Given the description of an element on the screen output the (x, y) to click on. 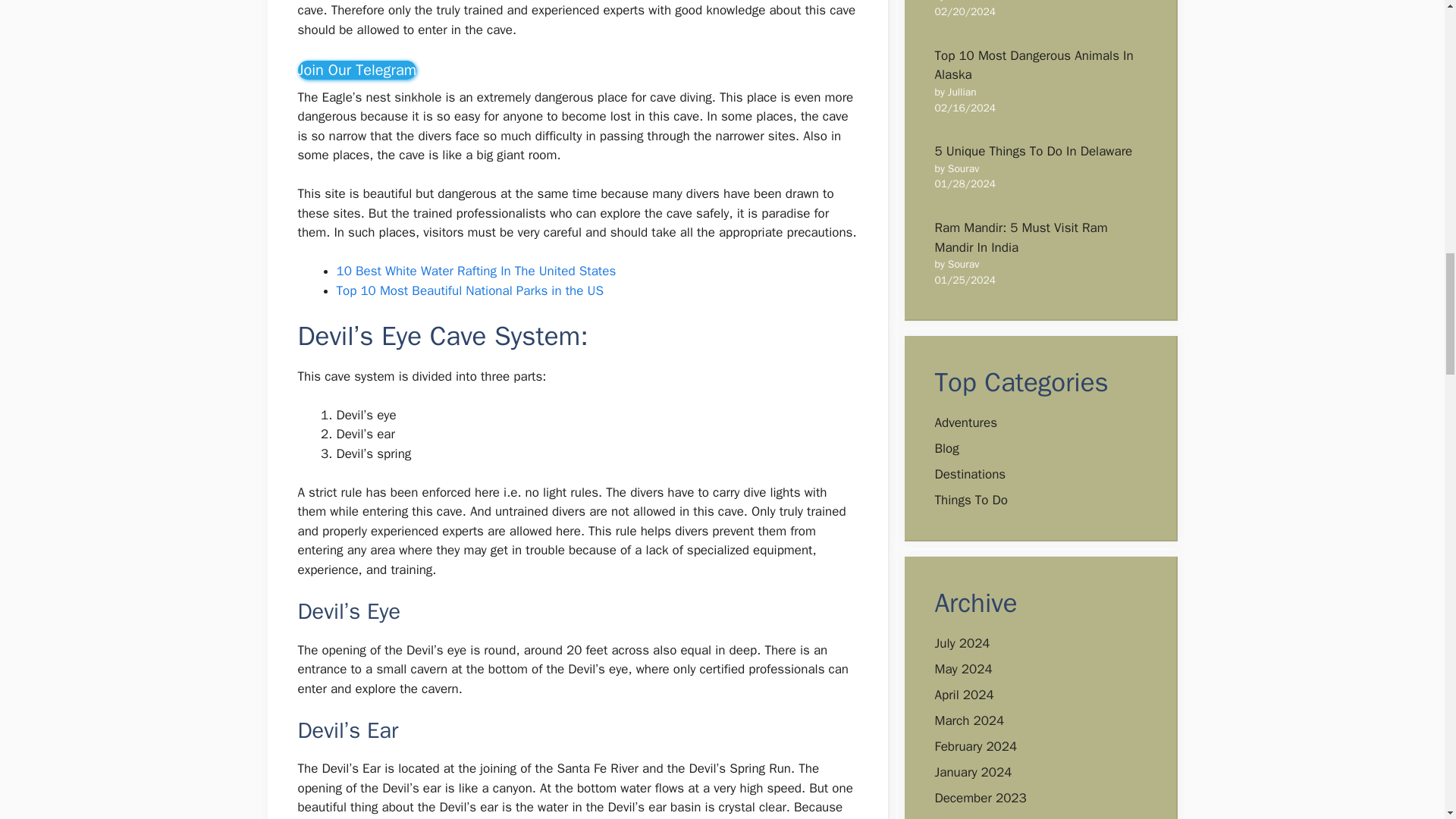
Join Our Telegram (356, 69)
Travel For Go (356, 69)
10 Best White Water Rafting In The United States (475, 270)
Top 10 Most Beautiful National Parks in the US (470, 290)
